Given the description of an element on the screen output the (x, y) to click on. 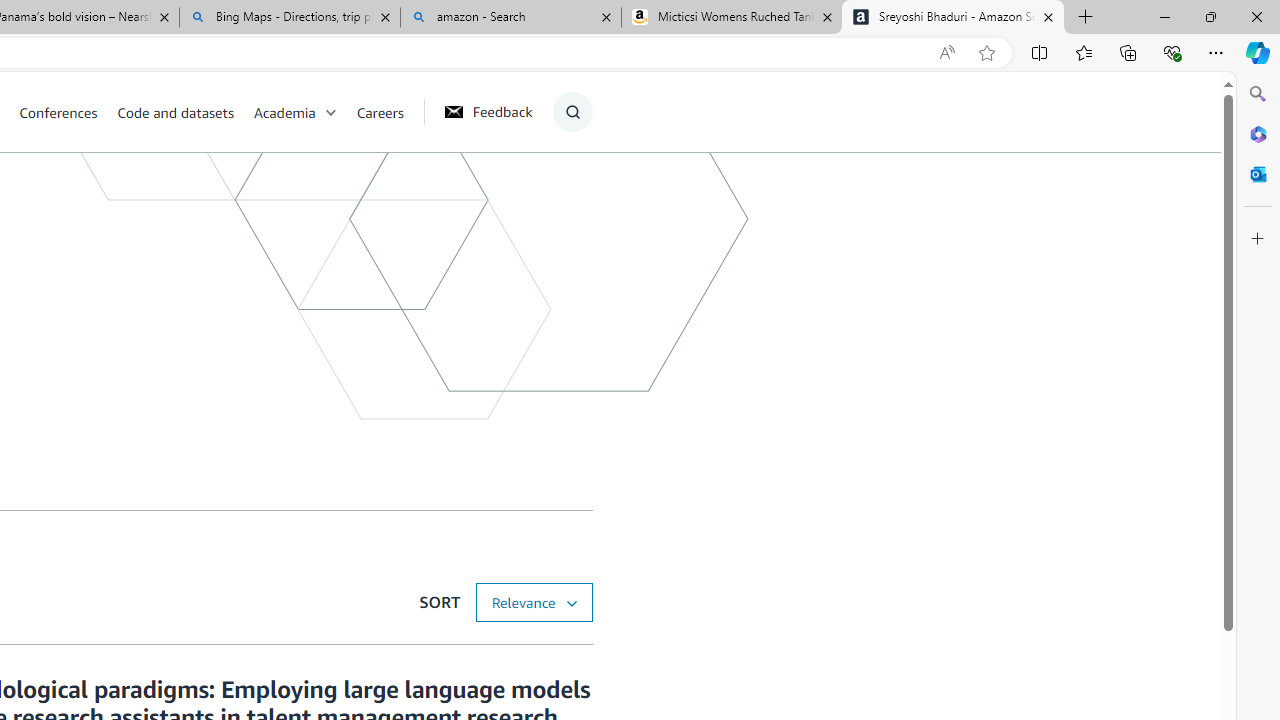
Class: chevron (330, 116)
Class: icon-magnify (571, 111)
Academia (305, 111)
